Given the description of an element on the screen output the (x, y) to click on. 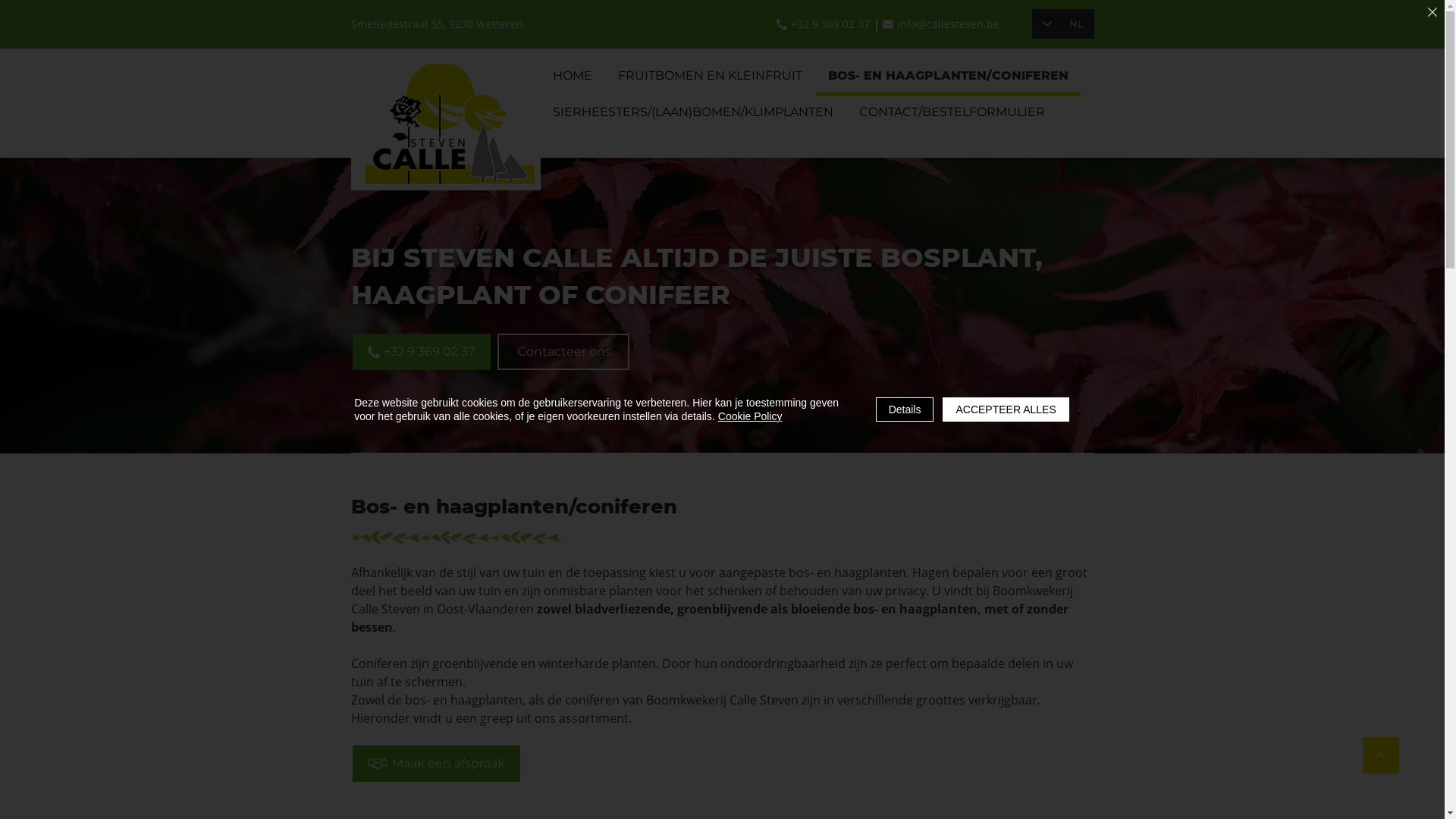
+32 9 369 02 37 Element type: text (420, 350)
Contacteer ons Element type: text (564, 350)
Cookie Policy Element type: text (750, 416)
BOS- EN HAAGPLANTEN/CONIFEREN Element type: text (947, 77)
HOME Element type: text (571, 77)
ACCEPTEER ALLES Element type: text (1005, 409)
SIERHEESTERS/(LAAN)BOMEN/KLIMPLANTEN Element type: text (691, 114)
+32 9 369 02 37 Element type: text (821, 23)
CONTACT/BESTELFORMULIER Element type: text (951, 114)
FRUITBOMEN EN KLEINFRUIT Element type: text (709, 77)
Maak een afspraak Element type: text (435, 763)
info@callesteven.be Element type: text (941, 23)
Details Element type: text (904, 409)
